Given the description of an element on the screen output the (x, y) to click on. 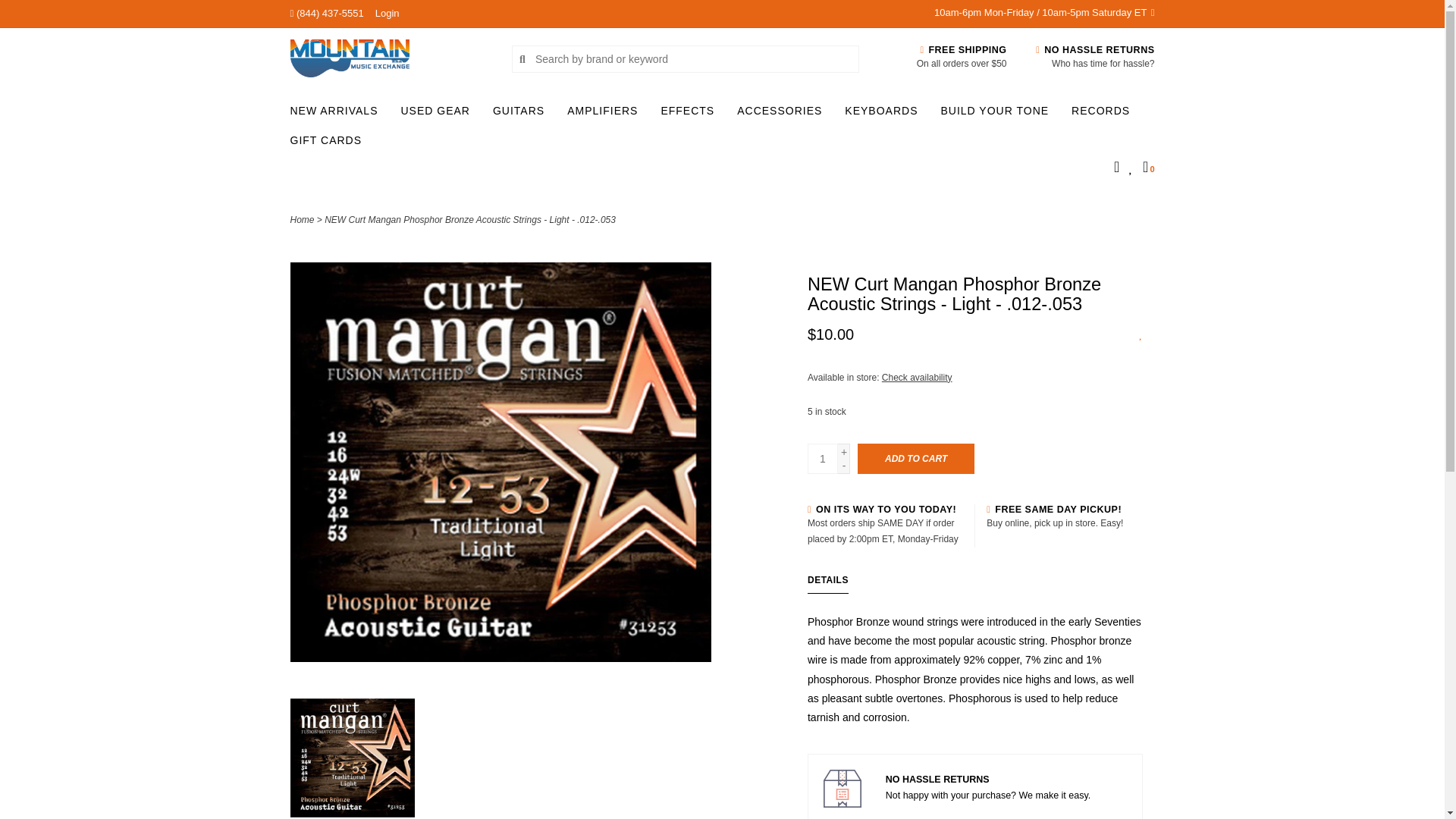
Used Gear (438, 114)
EFFECTS (691, 114)
NEW ARRIVALS (337, 114)
Amplifiers (606, 114)
1 (823, 458)
AMPLIFIERS (606, 114)
Guitars (522, 114)
Mountain Music Exchange (389, 57)
My account (386, 12)
USED GEAR (438, 114)
